Given the description of an element on the screen output the (x, y) to click on. 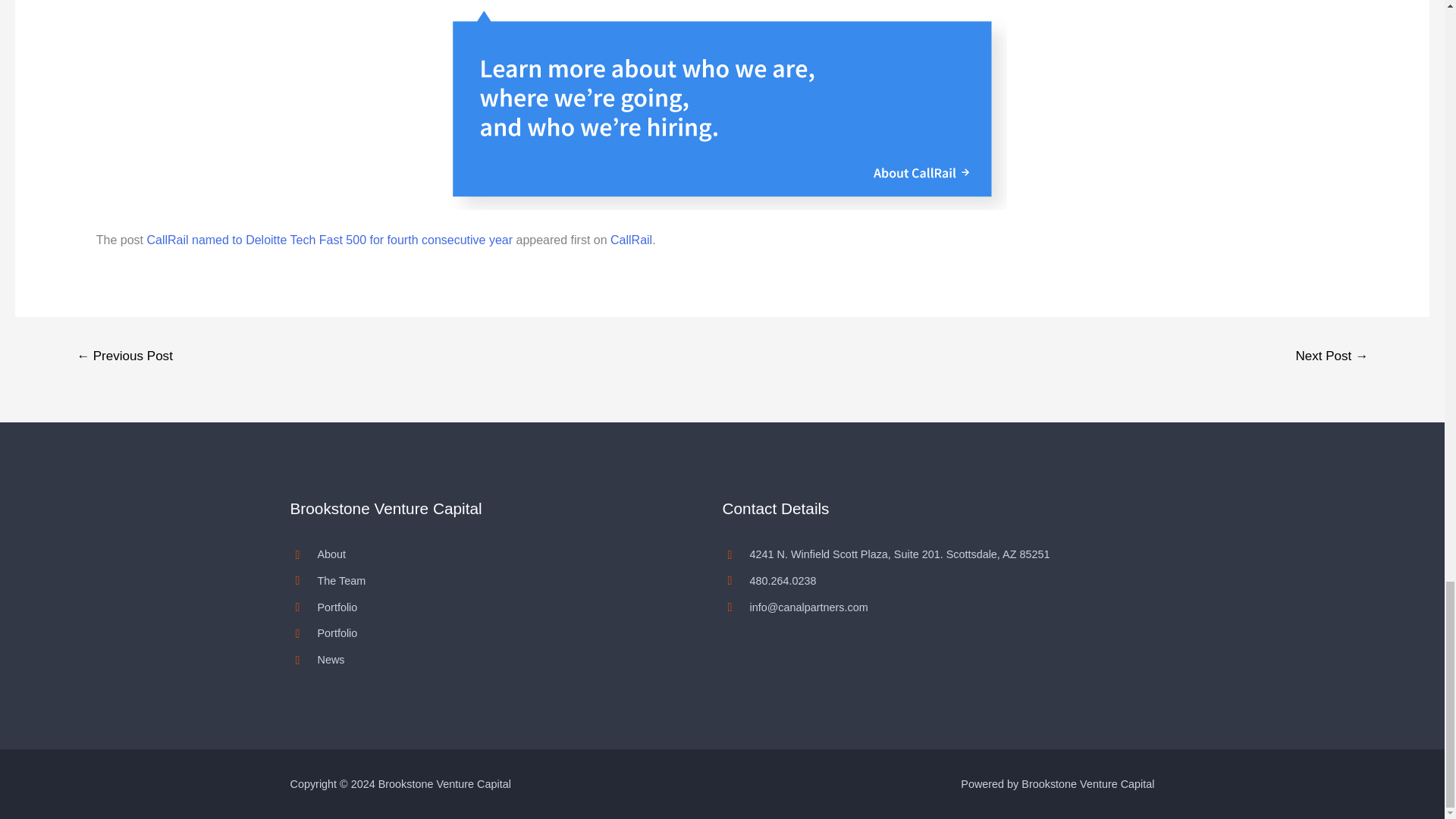
The Team (490, 580)
Portfolio (490, 633)
Portfolio (490, 607)
CallRail (631, 239)
About (490, 554)
News (490, 660)
